Given the description of an element on the screen output the (x, y) to click on. 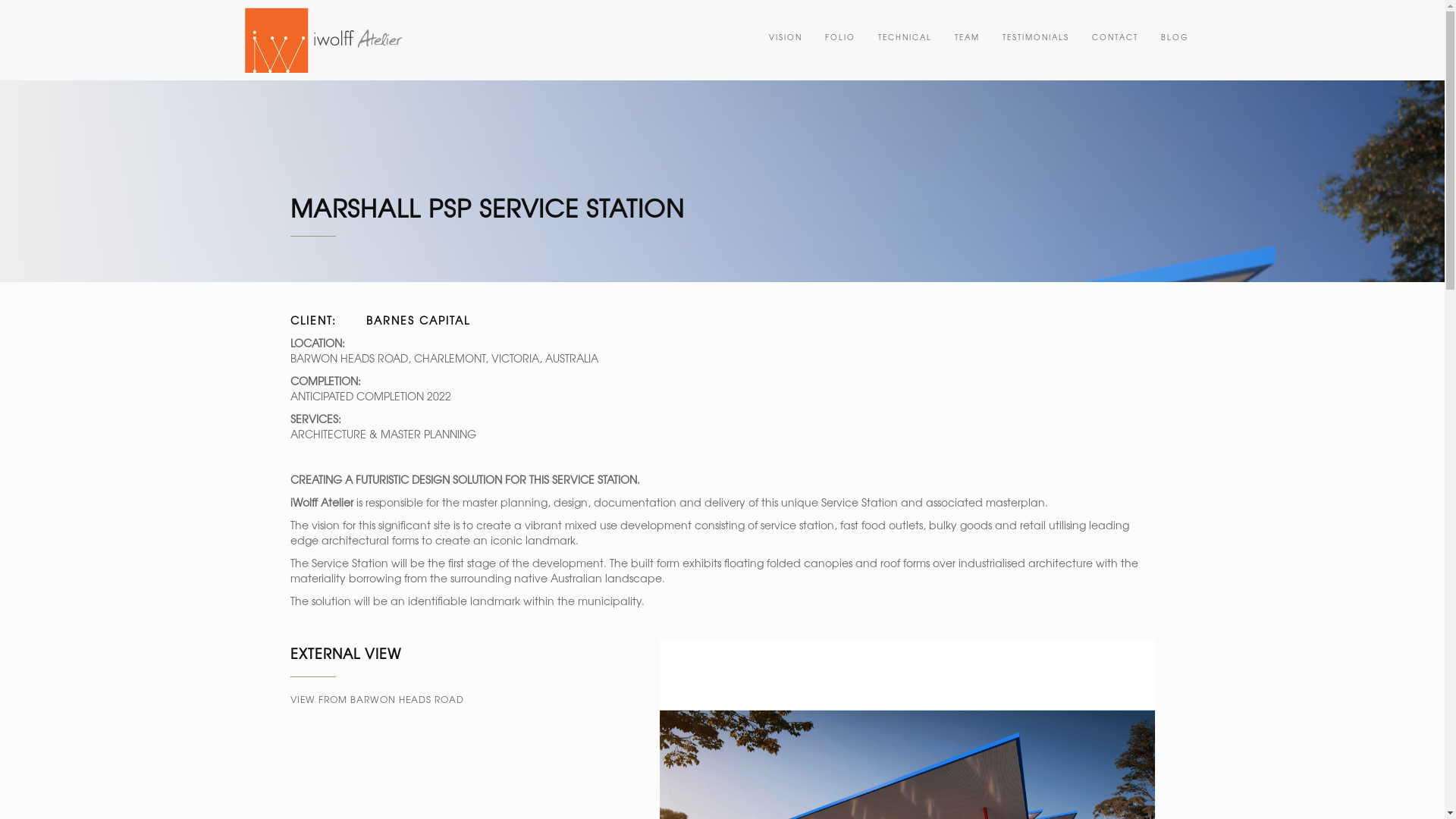
CONTACT Element type: text (1113, 37)
VISION Element type: text (784, 37)
TECHNICAL Element type: text (904, 37)
BLOG Element type: text (1174, 37)
FOLIO Element type: text (839, 37)
TESTIMONIALS Element type: text (1034, 37)
TEAM Element type: text (967, 37)
